Given the description of an element on the screen output the (x, y) to click on. 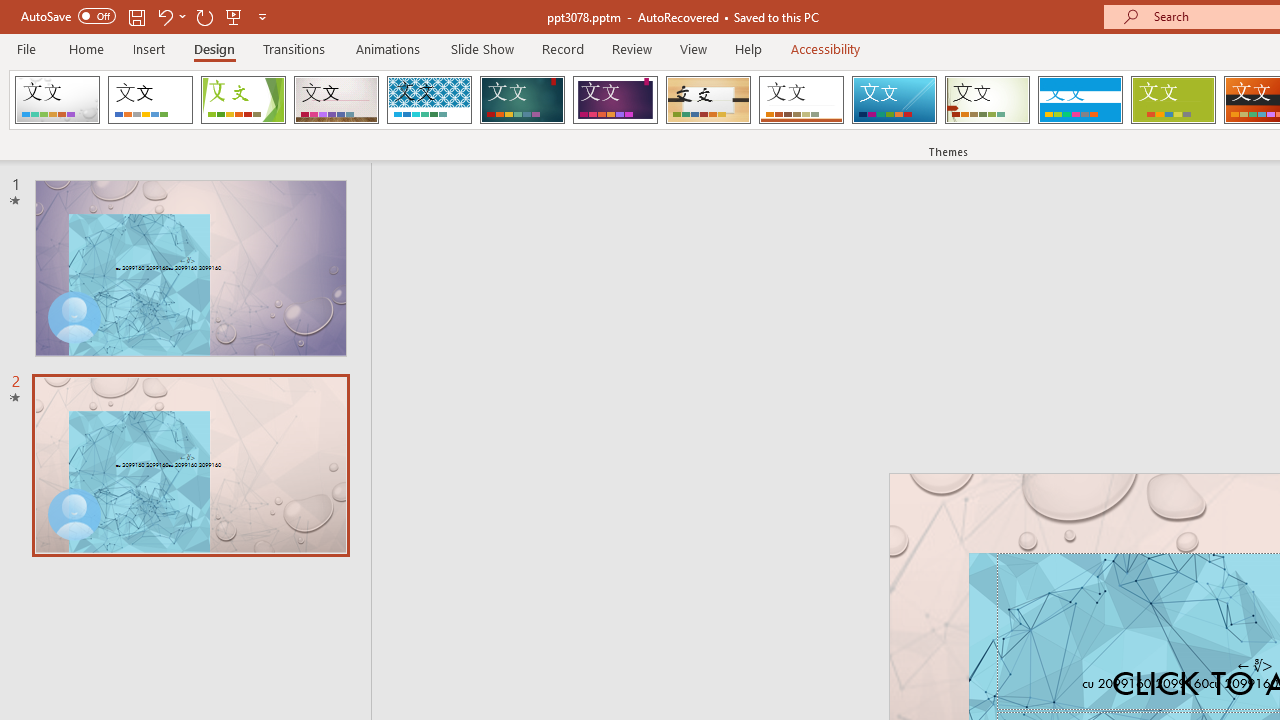
Wisp (987, 100)
Banded (1080, 100)
Facet (243, 100)
